Given the description of an element on the screen output the (x, y) to click on. 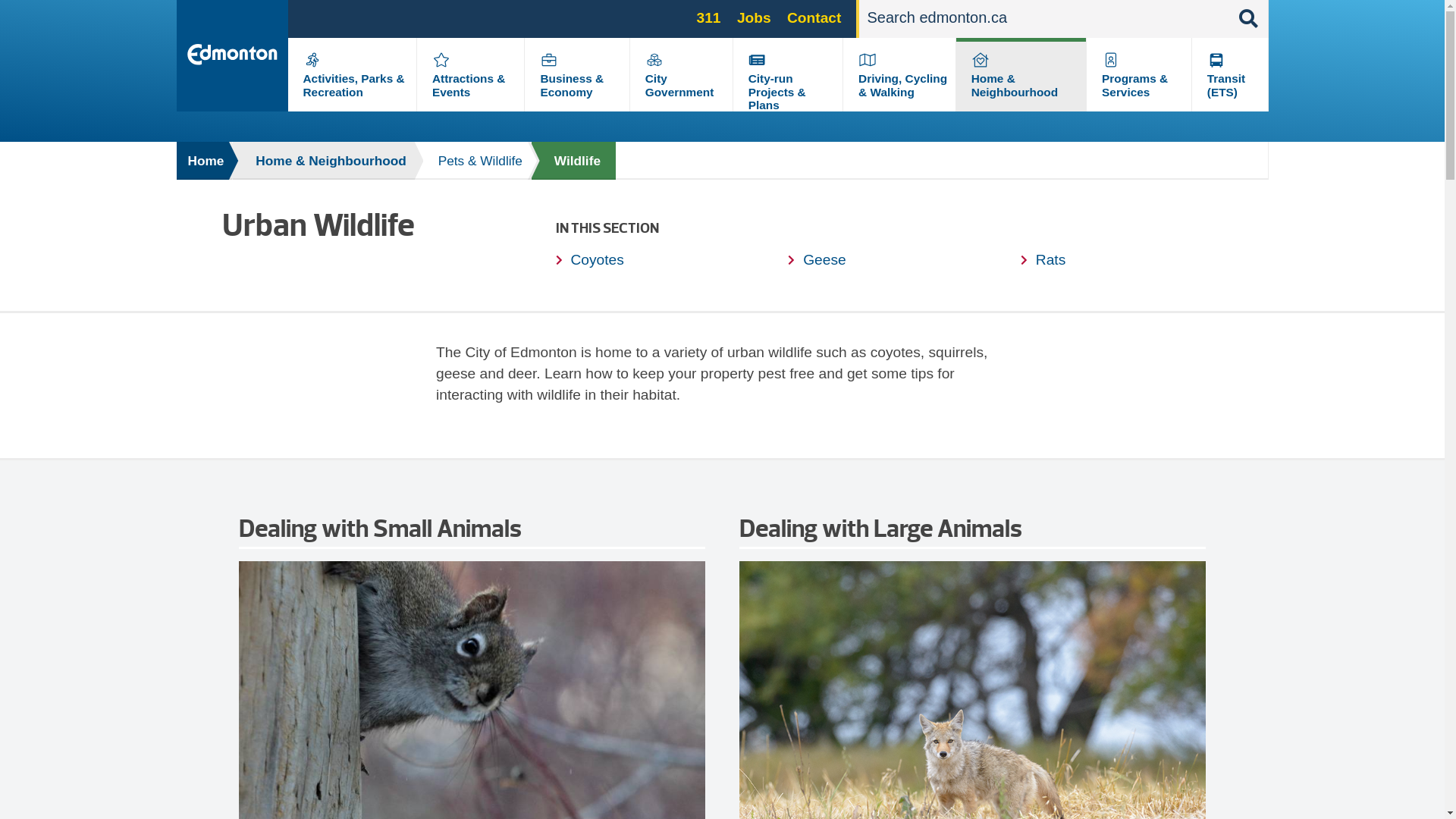
Coyotes Element type: text (589, 259)
Activities, Parks & Recreation Element type: text (353, 85)
Transit (ETS) Element type: text (1226, 85)
City Government Element type: text (679, 85)
Programs & Services Element type: text (1134, 85)
Home & Neighbourhood Element type: text (1014, 85)
Skip to main content Element type: text (0, 0)
Pets & Wildlife Element type: text (472, 160)
Rats Element type: text (1042, 259)
Contact Element type: text (813, 17)
Wildlife Element type: text (573, 160)
Jobs Element type: text (754, 17)
Business & Economy Element type: text (571, 85)
311 Element type: text (708, 17)
City-run Projects & Plans Element type: text (777, 91)
Home & Neighbourhood Element type: text (323, 160)
Attractions & Events Element type: text (468, 85)
Driving, Cycling & Walking Element type: text (902, 85)
Home Element type: text (203, 160)
Geese Element type: text (816, 259)
